Given the description of an element on the screen output the (x, y) to click on. 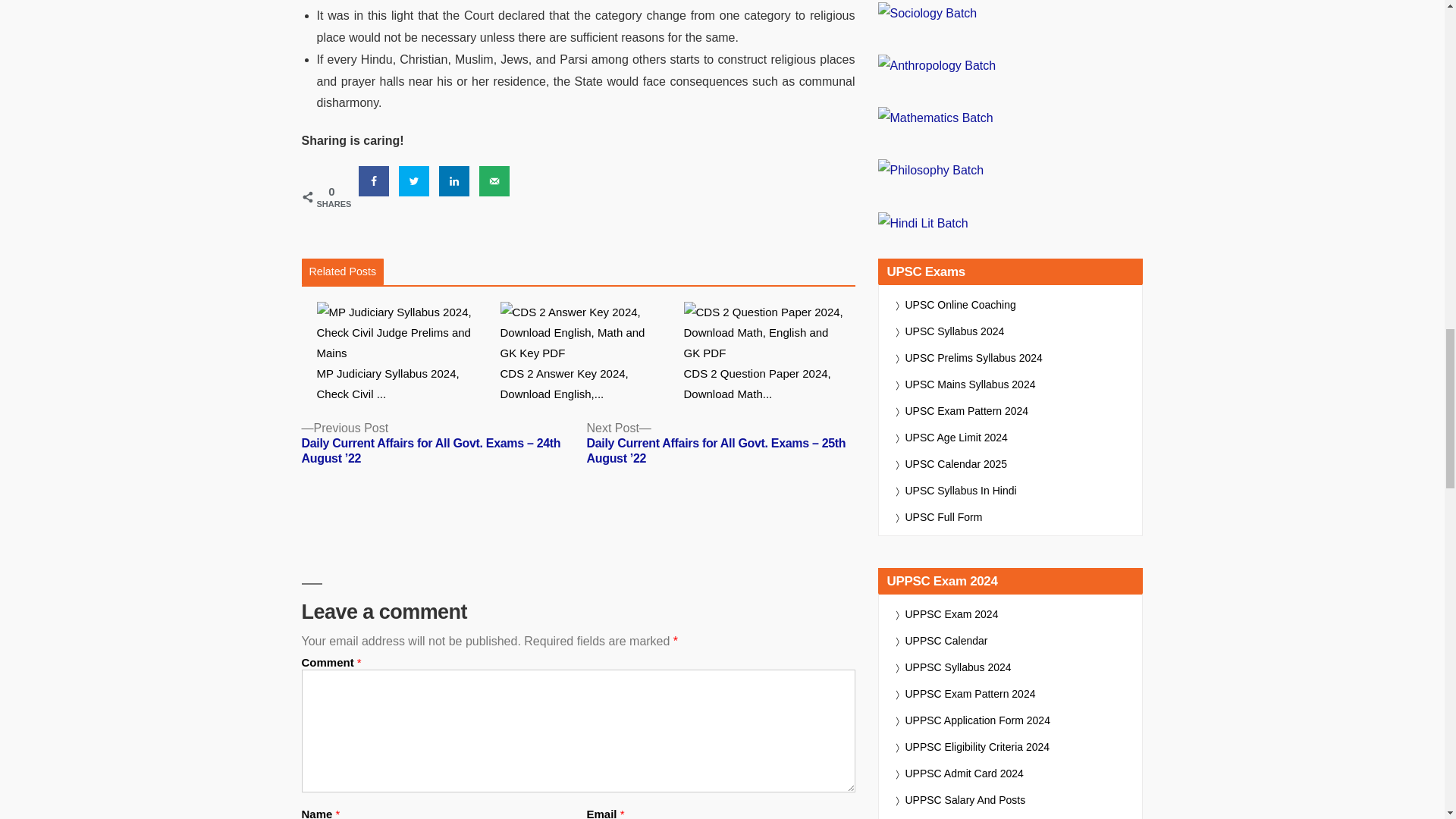
CDS 2 Answer Key 2024, Download English, Math and GK Key PDF (585, 353)
CDS 2 Question Paper 2024, Download Math, English and GK PDF (770, 353)
Share on LinkedIn (453, 181)
Share on Facebook (373, 181)
Share on Twitter (413, 181)
Send over email (494, 181)
